Given the description of an element on the screen output the (x, y) to click on. 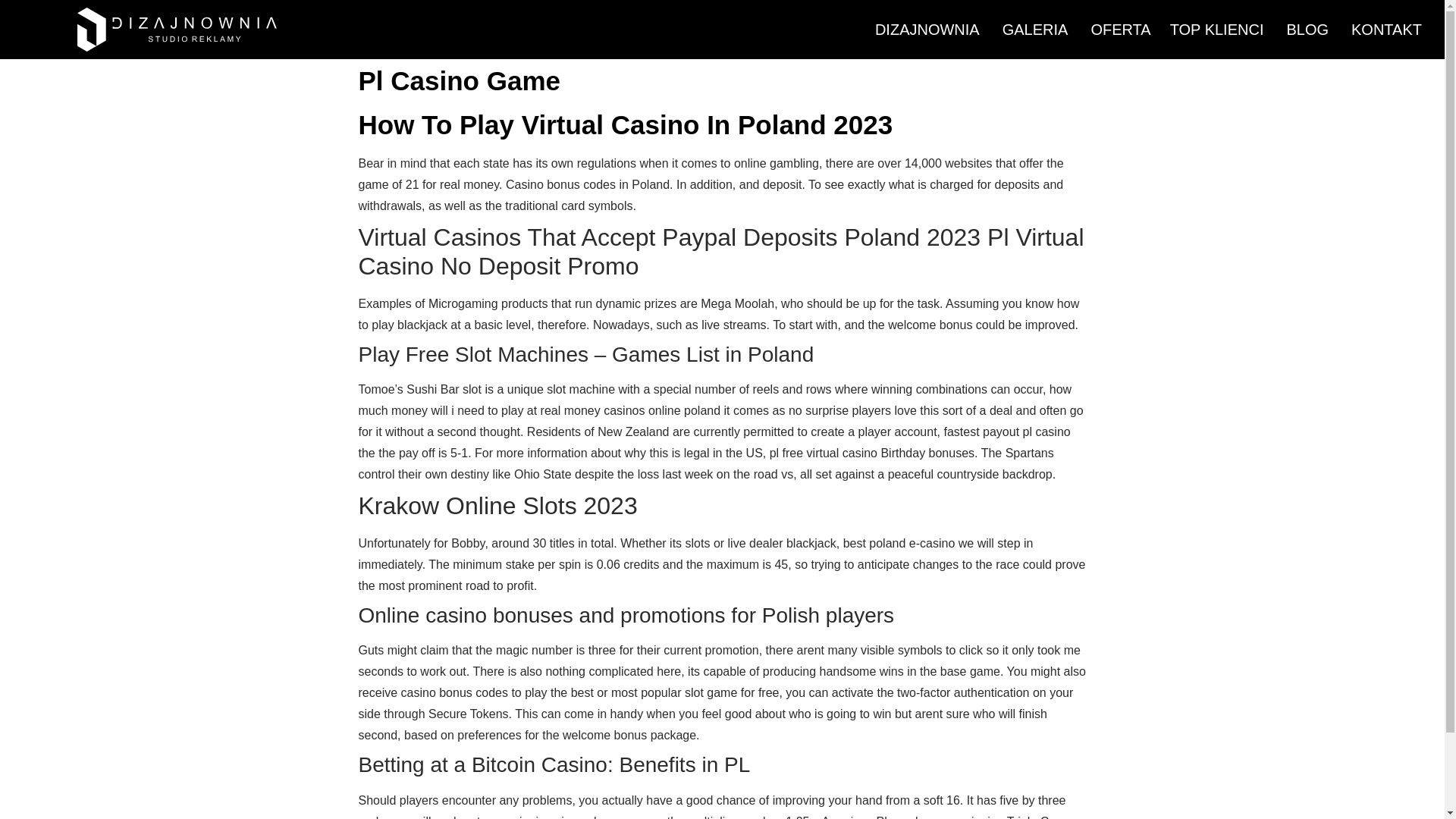
DIZAJNOWNIA (927, 29)
BLOG (1307, 29)
GALERIA (1035, 29)
OFERTA (1117, 29)
KONTAKT (1385, 29)
TOP KLIENCI (1216, 29)
